Given the description of an element on the screen output the (x, y) to click on. 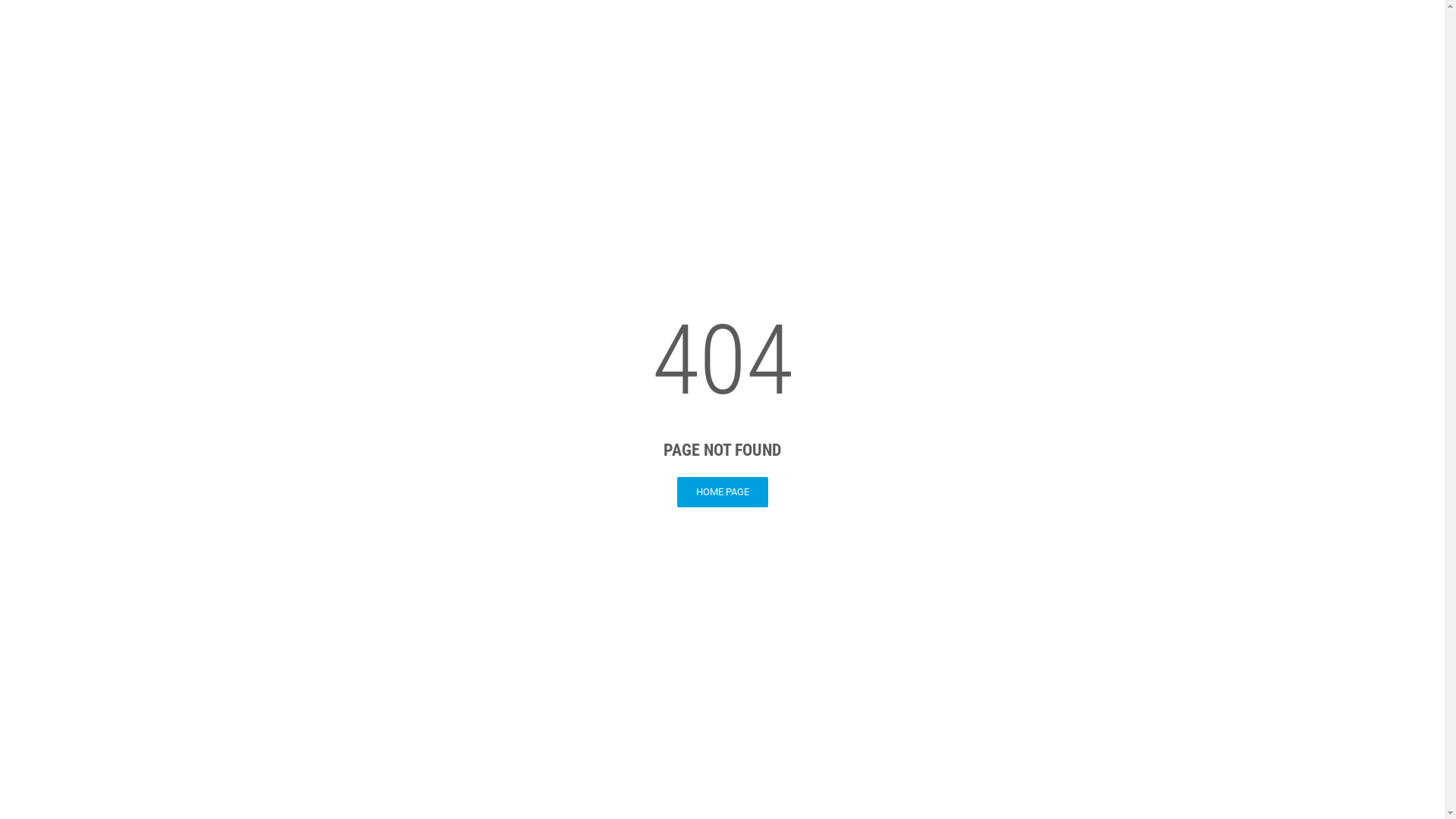
HOME PAGE Element type: text (721, 491)
